Given the description of an element on the screen output the (x, y) to click on. 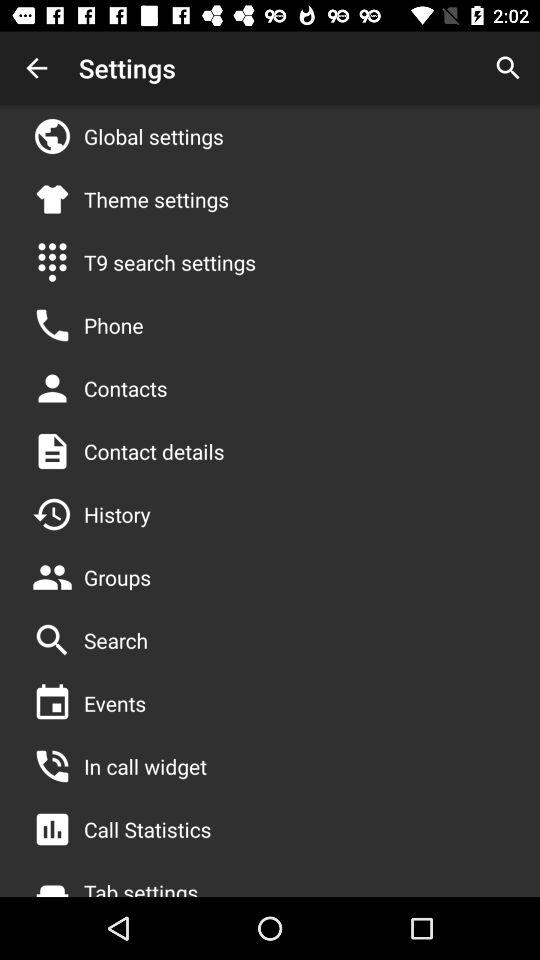
select global settings item (153, 136)
